Given the description of an element on the screen output the (x, y) to click on. 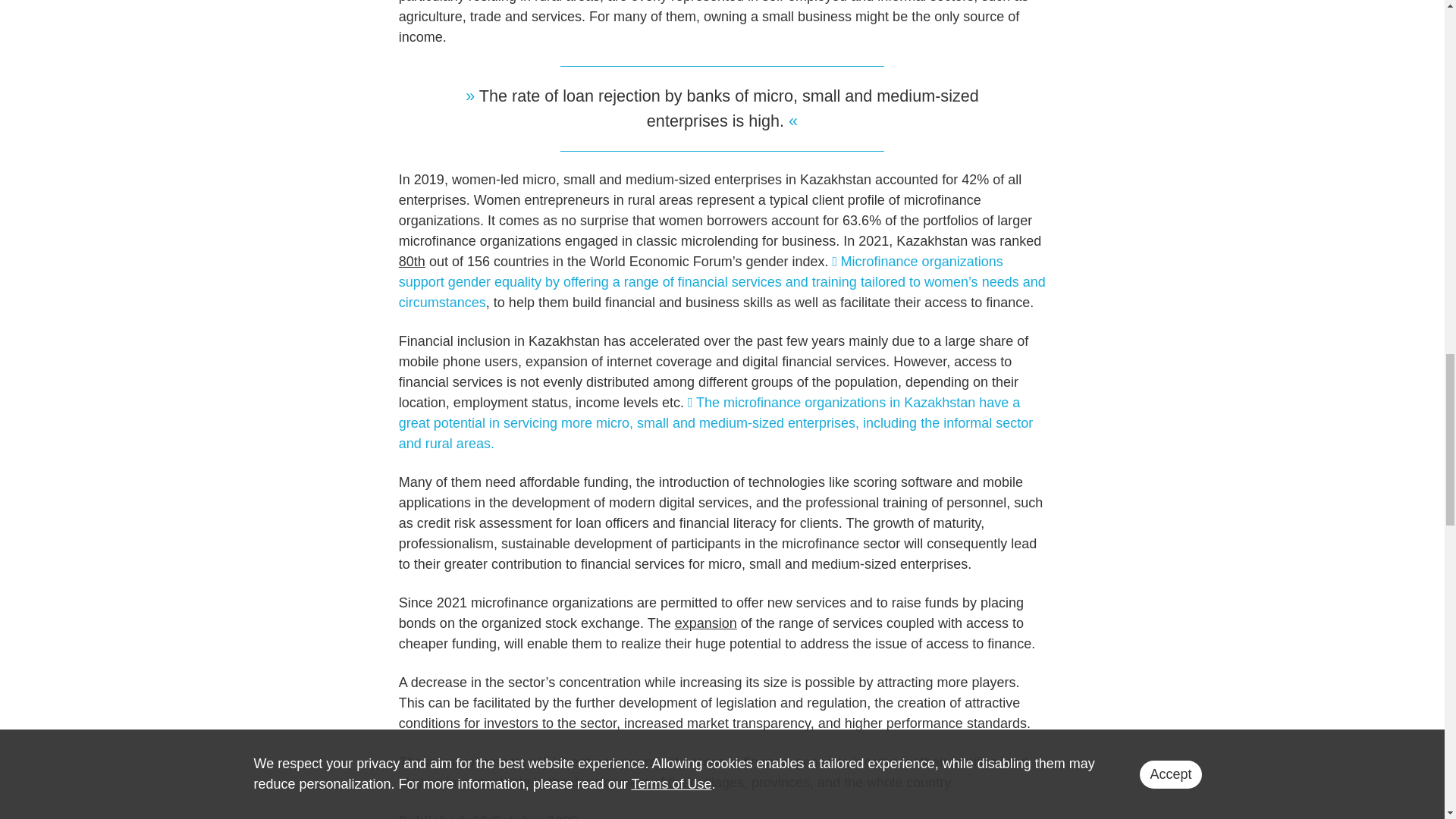
Tweet this (715, 422)
Tweet this (721, 281)
